Given the description of an element on the screen output the (x, y) to click on. 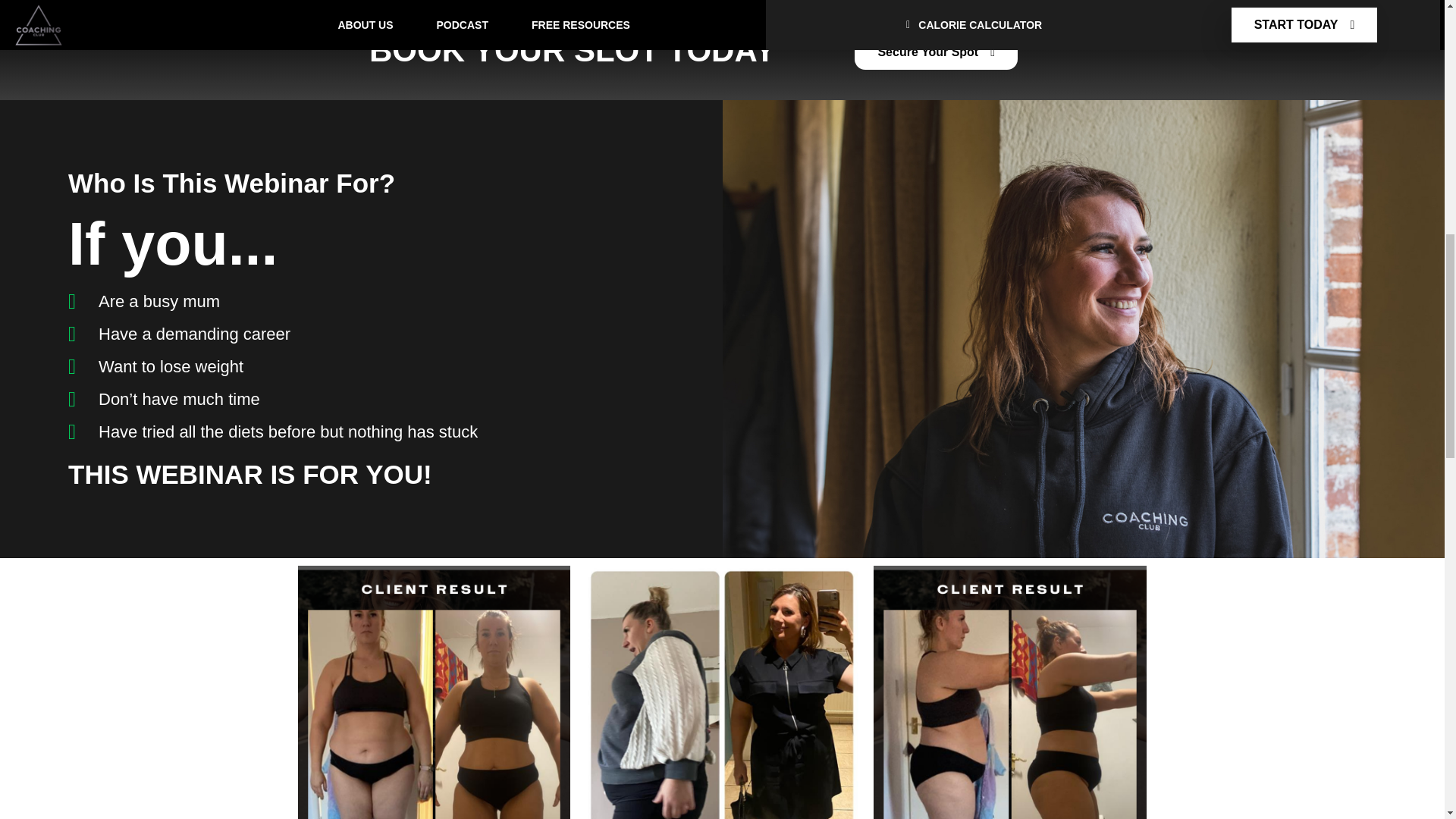
Secure Your Spot (935, 52)
